Given the description of an element on the screen output the (x, y) to click on. 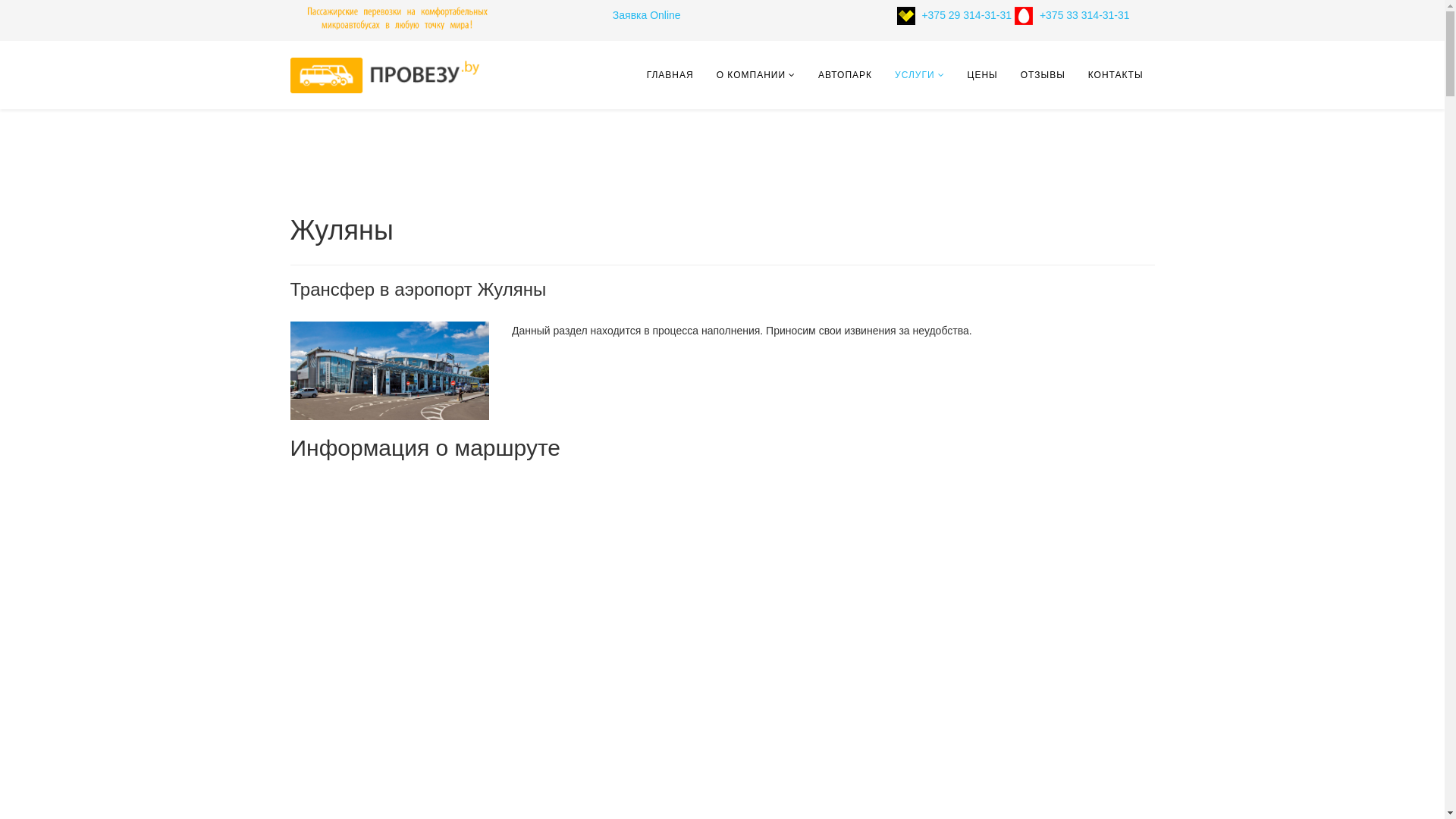
+375 29 314-31-31 Element type: text (980, 15)
+375 33 314-31-31 Element type: text (1084, 15)
